Given the description of an element on the screen output the (x, y) to click on. 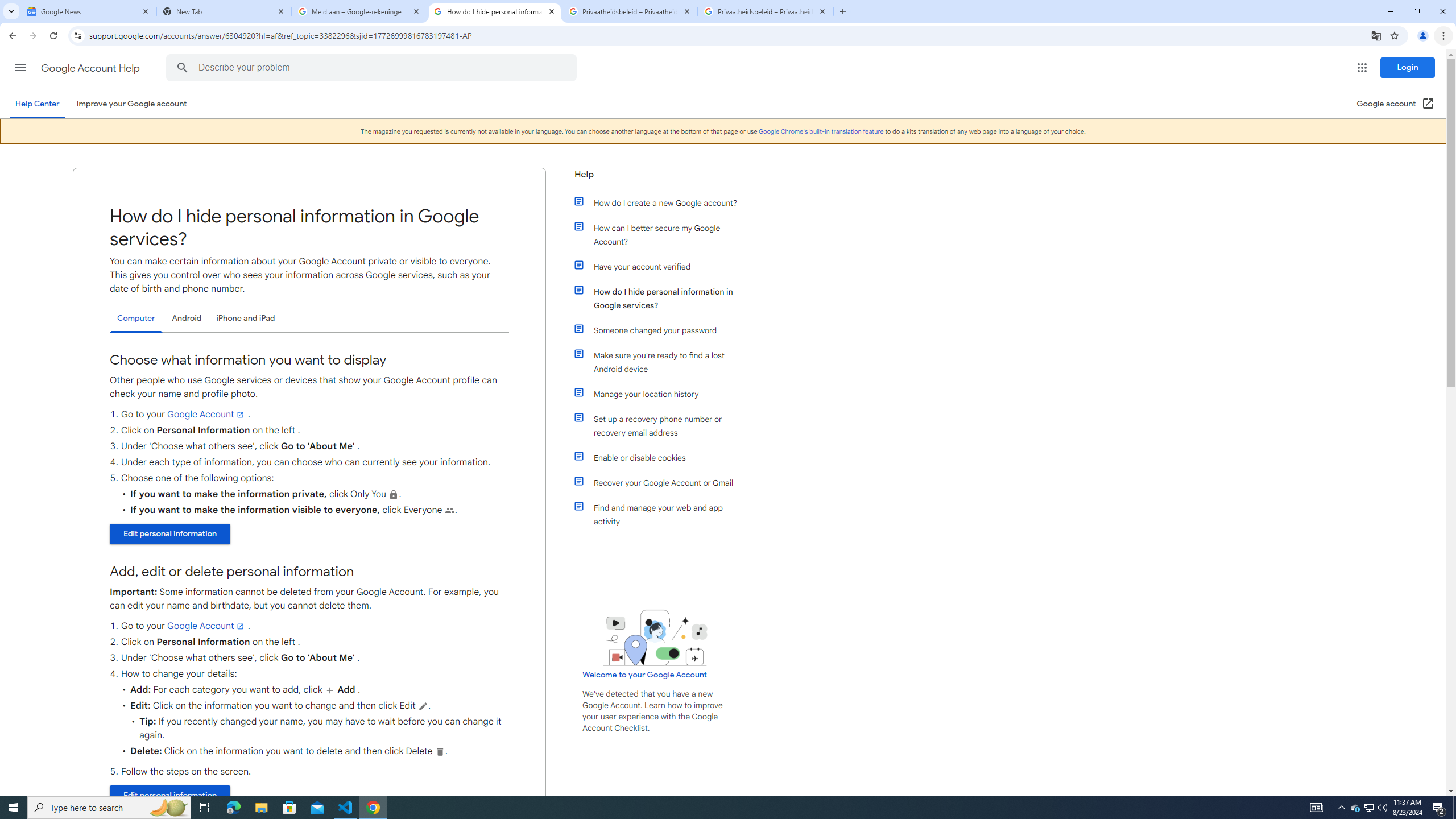
Computer (136, 318)
Have your account verified (661, 266)
Android (186, 317)
Find and manage your web and app activity (661, 514)
Private, tap to edit who can see this data (393, 493)
Make sure you're ready to find a lost Android device (661, 362)
Improve your Google account (131, 103)
Google Chrome's built-in translation feature (820, 131)
Someone changed your password (661, 330)
Set up a recovery phone number or recovery email address (661, 426)
New Tab (224, 11)
iPhone and iPad (245, 317)
